Given the description of an element on the screen output the (x, y) to click on. 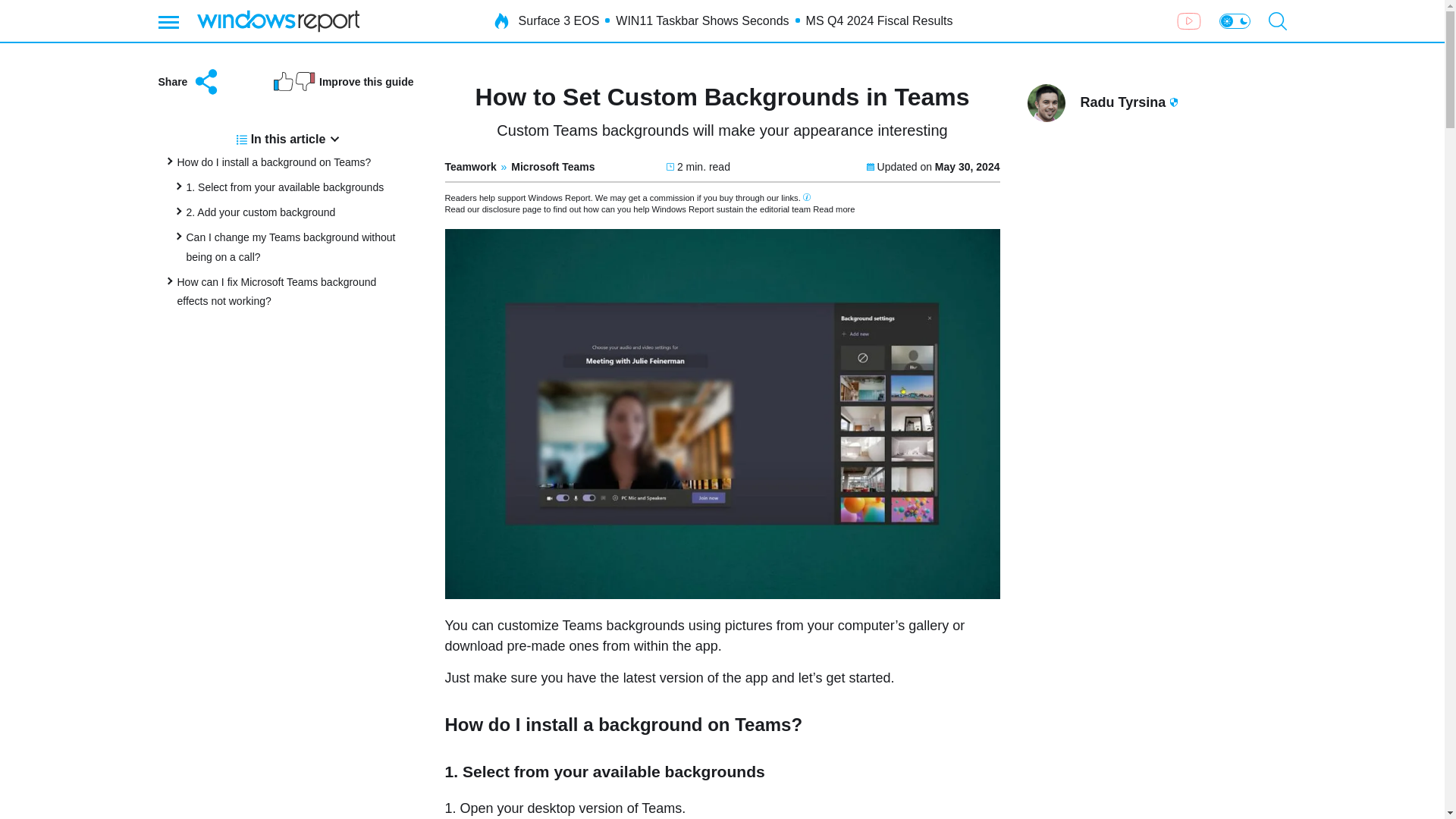
2. Add your custom background (261, 212)
WIN11 Taskbar Shows Seconds (702, 21)
Share this article (189, 81)
Share (189, 81)
How do I install a background on Teams? (274, 162)
Surface 3 EOS (558, 21)
MS Q4 2024 Fiscal Results (879, 21)
Can I change my Teams background without being on a call? (291, 246)
1. Select from your available backgrounds (285, 186)
Open search bar (1276, 21)
